Given the description of an element on the screen output the (x, y) to click on. 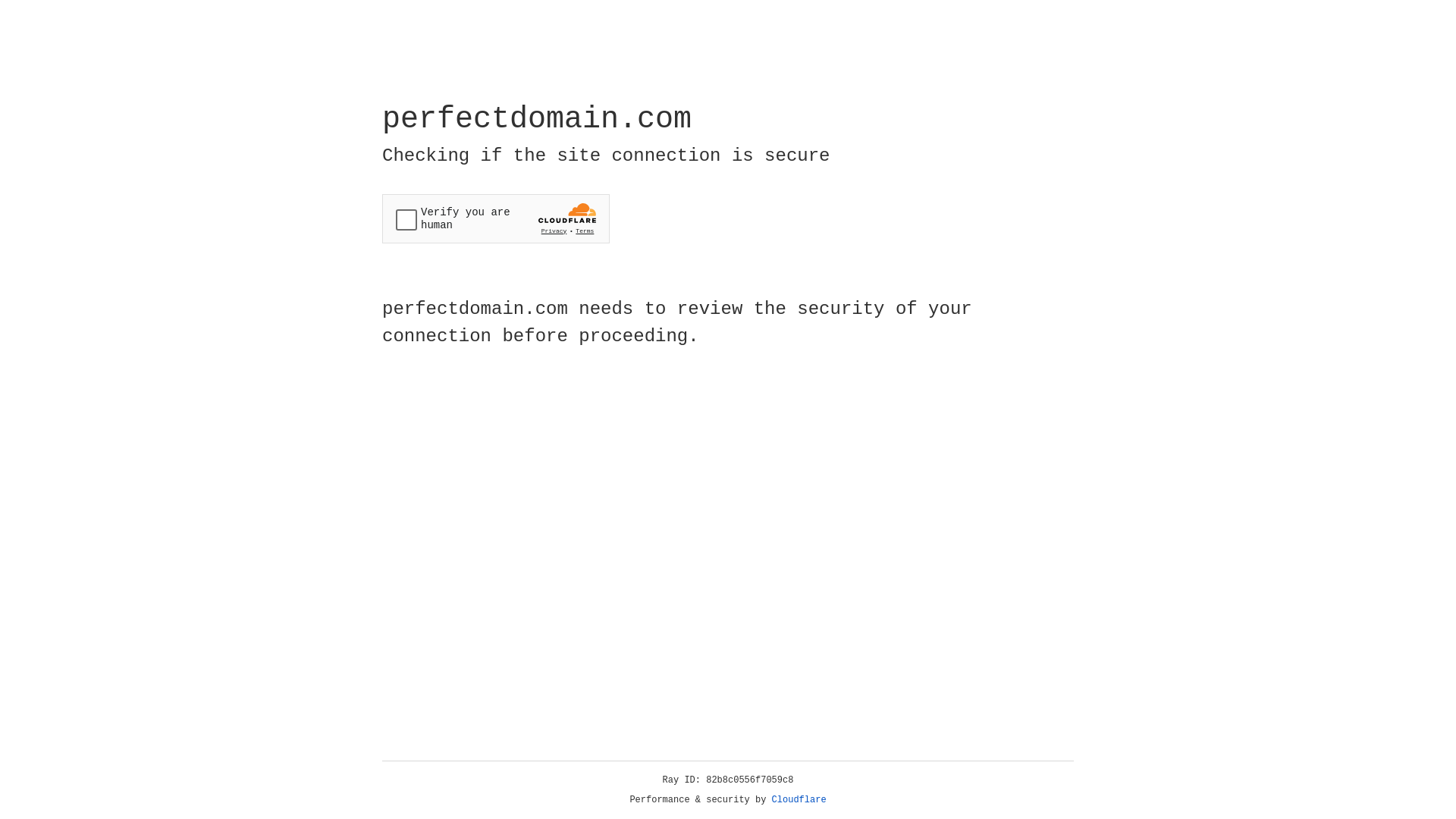
Cloudflare Element type: text (798, 799)
Widget containing a Cloudflare security challenge Element type: hover (495, 218)
